Given the description of an element on the screen output the (x, y) to click on. 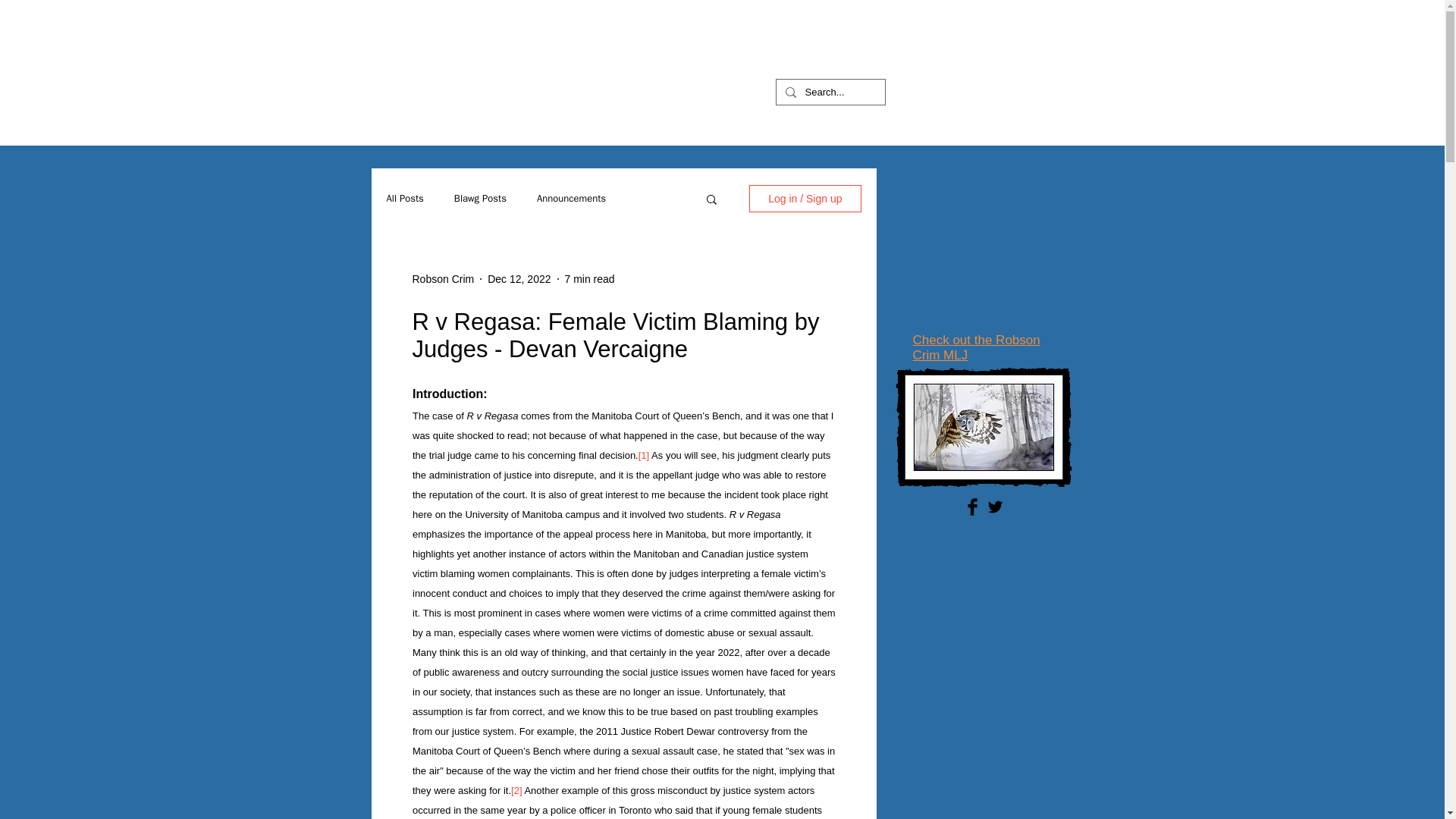
7 min read (589, 278)
Announcements (571, 198)
All Posts (405, 198)
Blawg Posts (480, 198)
Dec 12, 2022 (518, 278)
Robson Crim (443, 279)
